Given the description of an element on the screen output the (x, y) to click on. 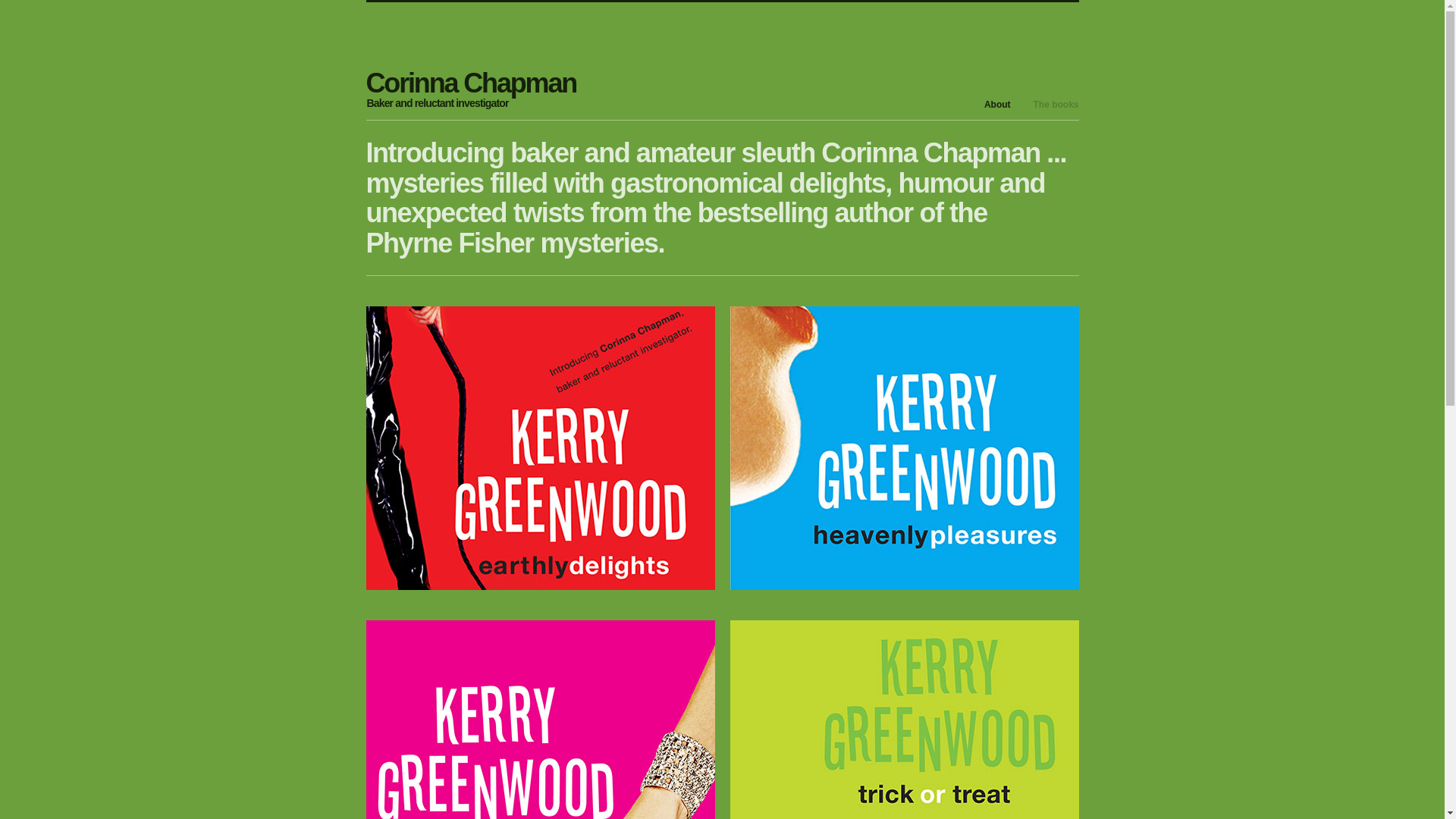
The books Element type: text (1055, 104)
About Element type: text (997, 104)
